Given the description of an element on the screen output the (x, y) to click on. 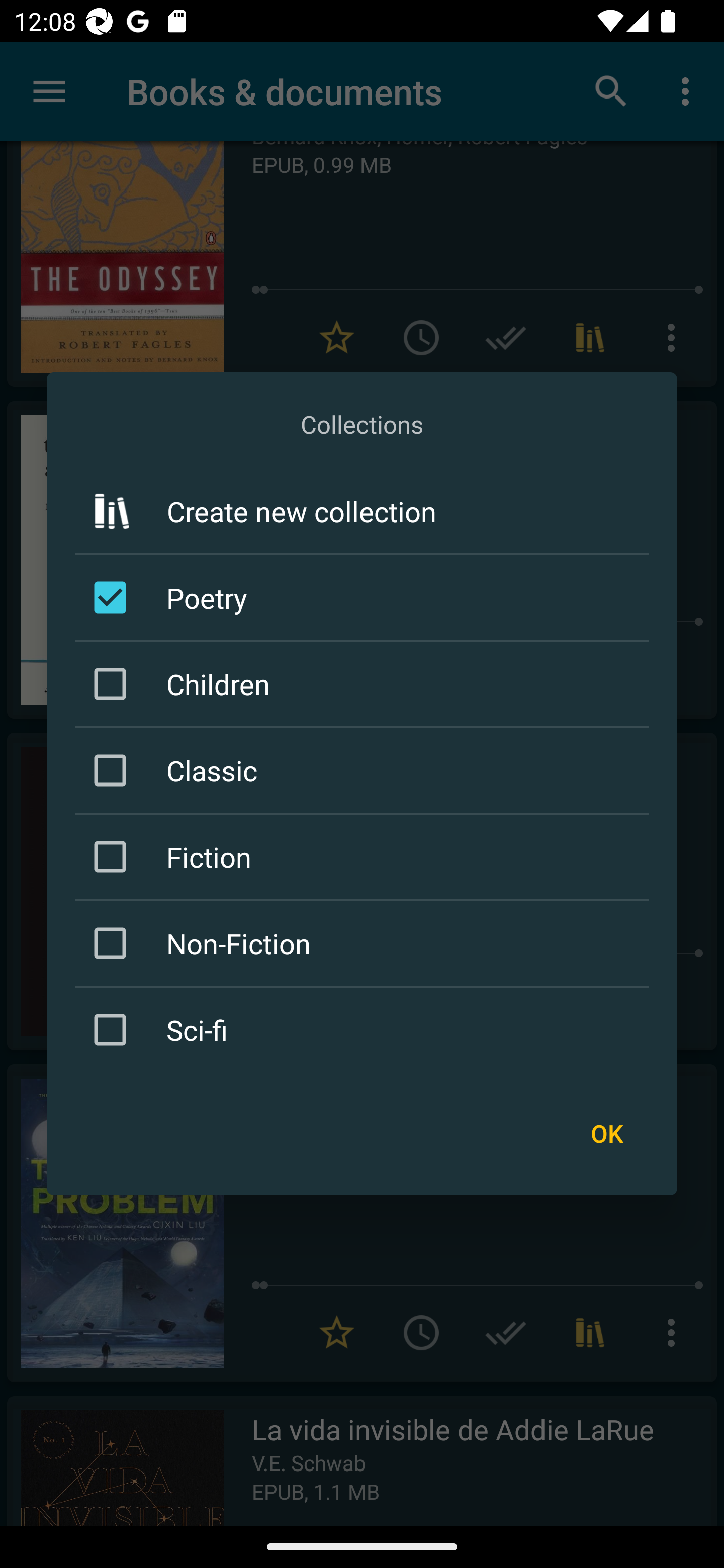
Create new collection (361, 510)
Poetry (365, 597)
Children (365, 683)
Classic (365, 769)
Fiction (365, 856)
Non-Fiction (365, 943)
Sci-fi (365, 1029)
OK (606, 1133)
